Given the description of an element on the screen output the (x, y) to click on. 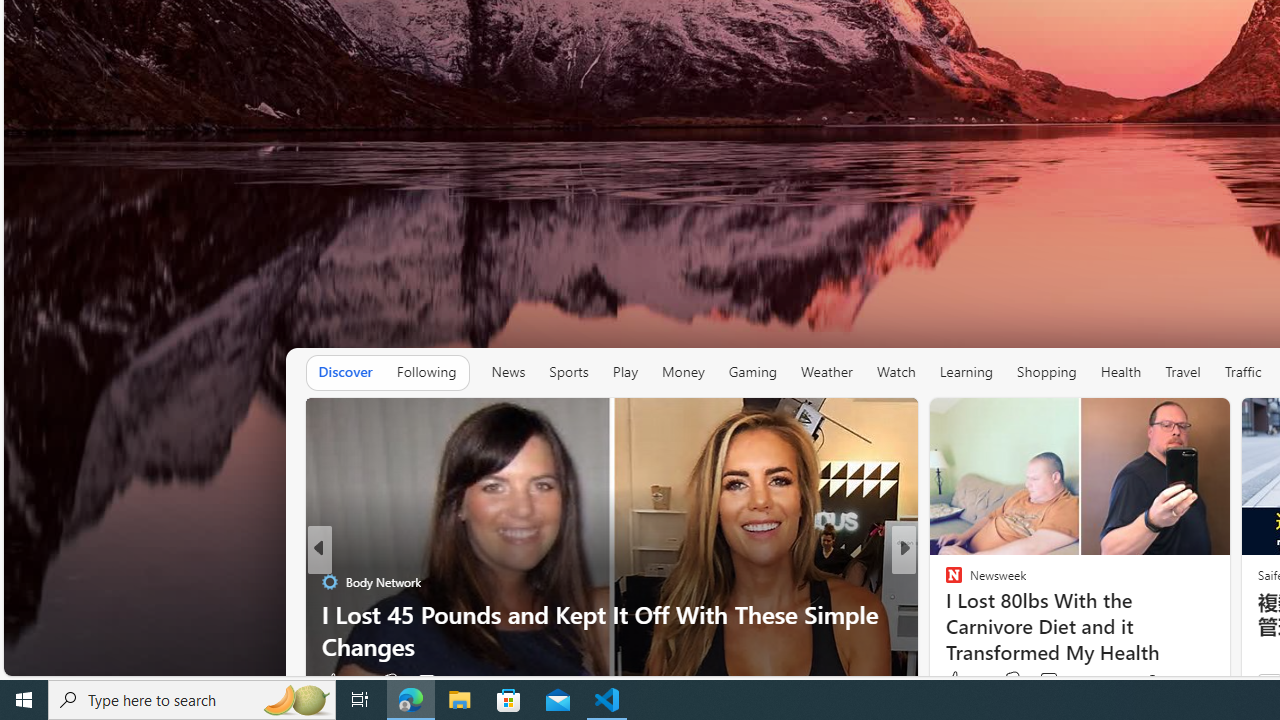
Weather (826, 371)
Gaming (752, 371)
Traffic (1242, 372)
View comments 73 Comment (1048, 679)
Watch (895, 371)
Money (682, 371)
View comments 11 Comment (426, 681)
Learning (966, 372)
Weather (826, 372)
Play (625, 372)
Gaming (752, 372)
View comments 11 Comment (435, 681)
